Given the description of an element on the screen output the (x, y) to click on. 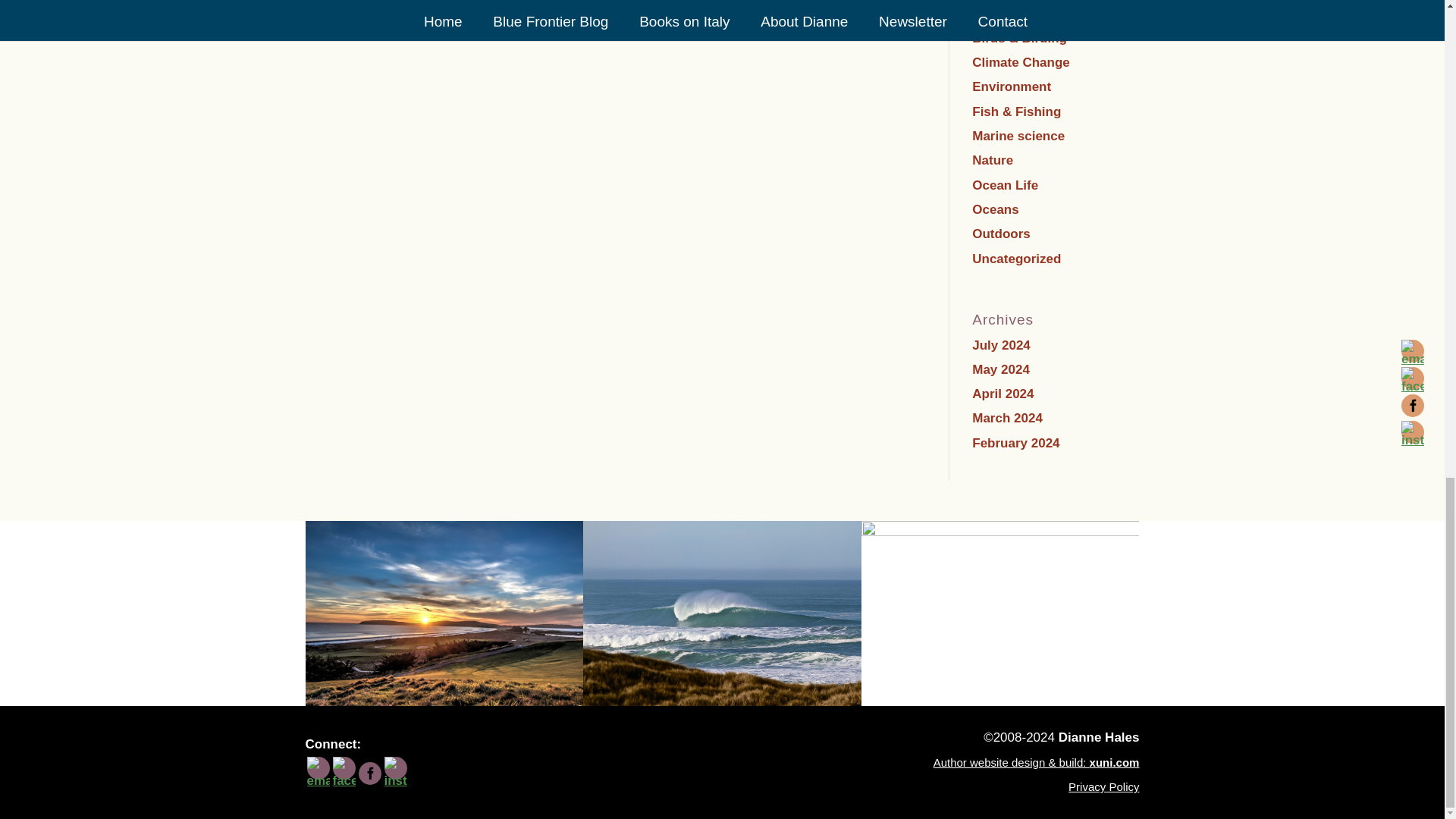
February 2024 (1015, 442)
May 2024 (1000, 369)
1-home10 (722, 613)
March 2024 (1007, 418)
1-home6 (443, 613)
blog3.1 (1000, 613)
Nature (992, 160)
April 2024 (1002, 393)
Marine science (1018, 135)
Ocean Life (1005, 185)
Oceans (994, 209)
Outdoors (1001, 233)
Climate Change (1020, 62)
Animals (997, 13)
July 2024 (1001, 345)
